Given the description of an element on the screen output the (x, y) to click on. 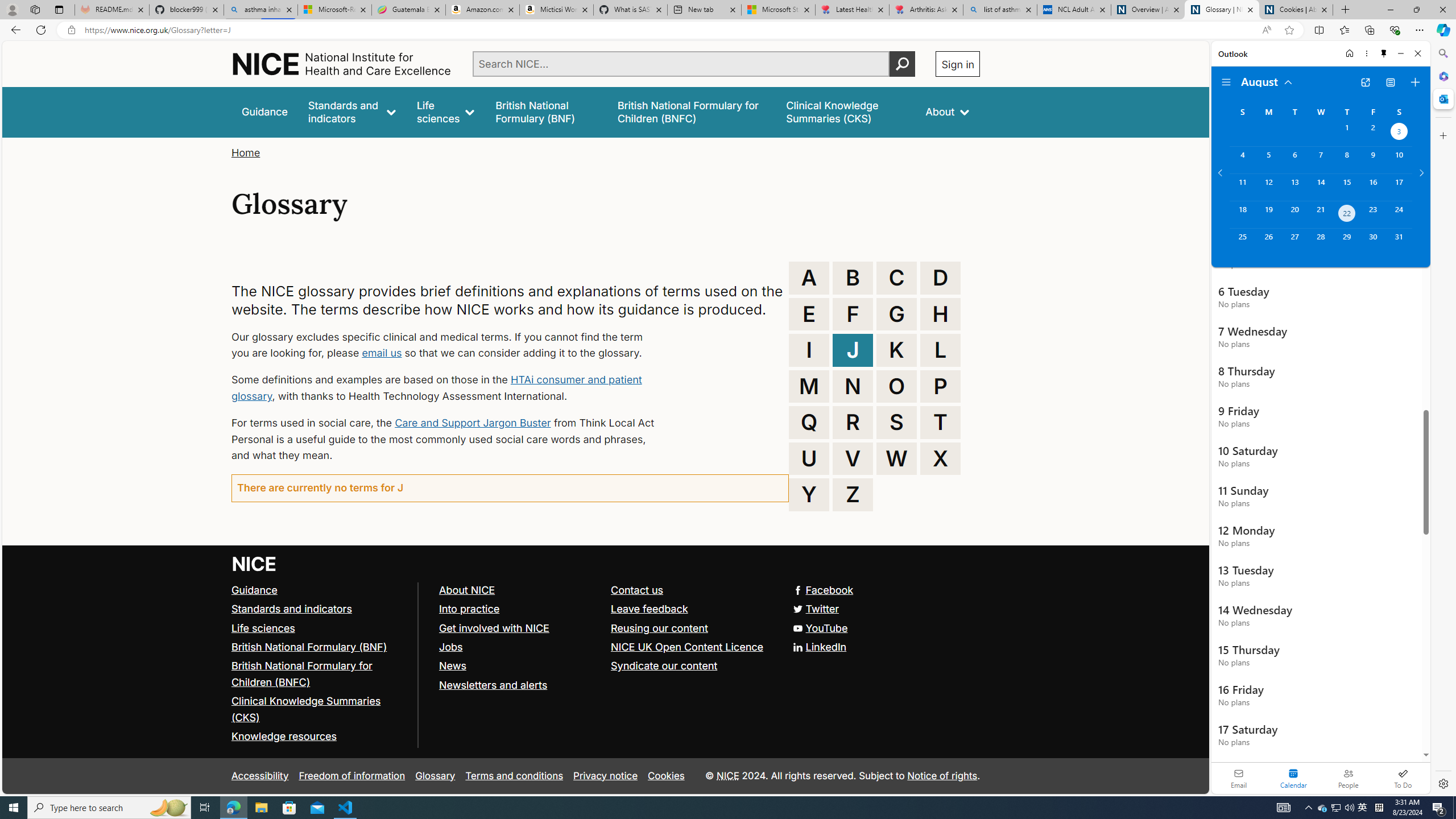
Cookies (665, 775)
M (809, 385)
Y (809, 494)
Newsletters and alerts (492, 684)
Saturday, August 24, 2024.  (1399, 214)
Z (852, 494)
Reusing our content (659, 627)
E (809, 313)
B (852, 277)
A (809, 277)
Contact us (637, 589)
V (852, 458)
